Given the description of an element on the screen output the (x, y) to click on. 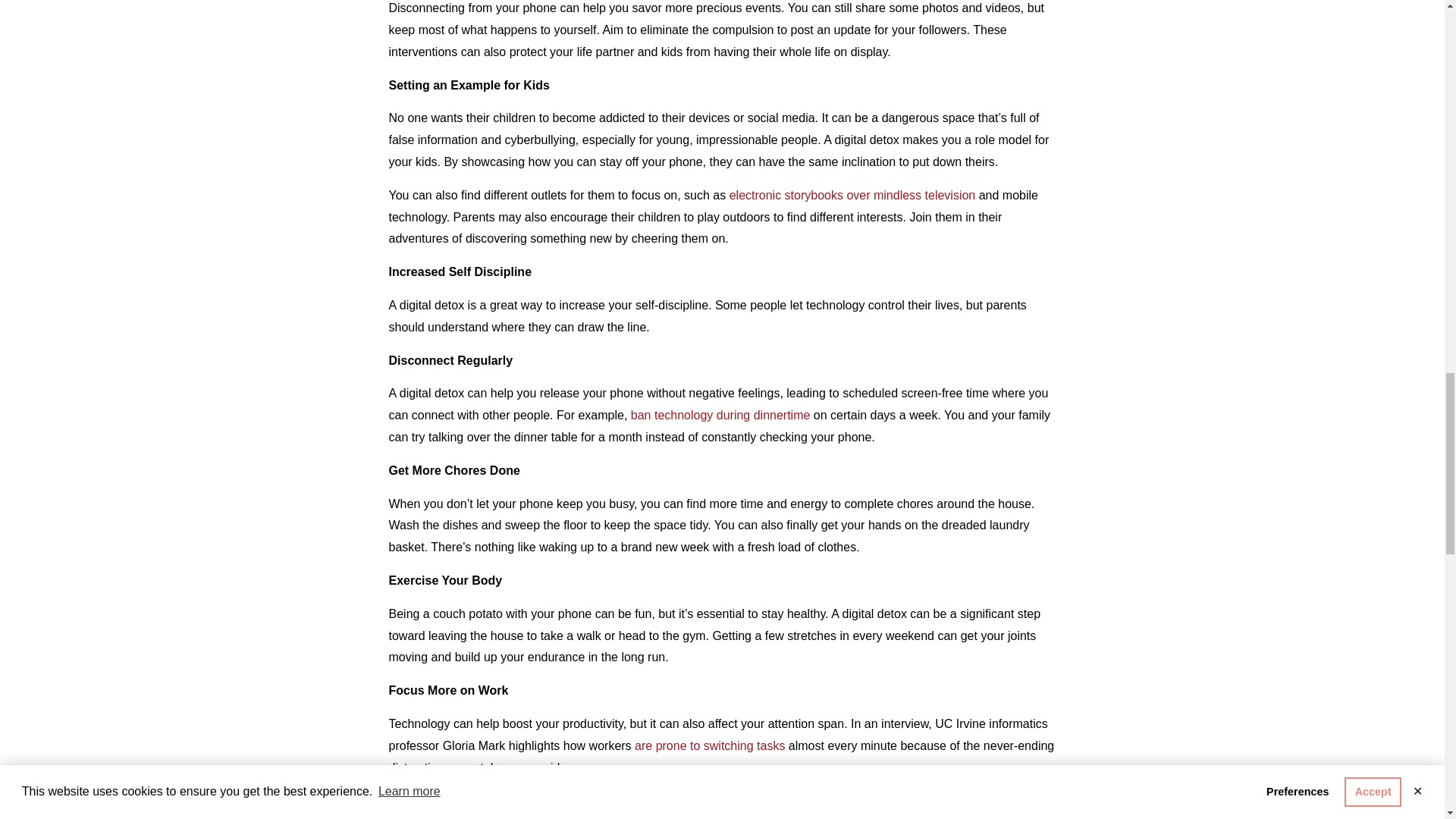
are prone to switching tasks (709, 745)
ban technology during dinnertime (720, 414)
electronic storybooks over mindless television (852, 195)
